Given the description of an element on the screen output the (x, y) to click on. 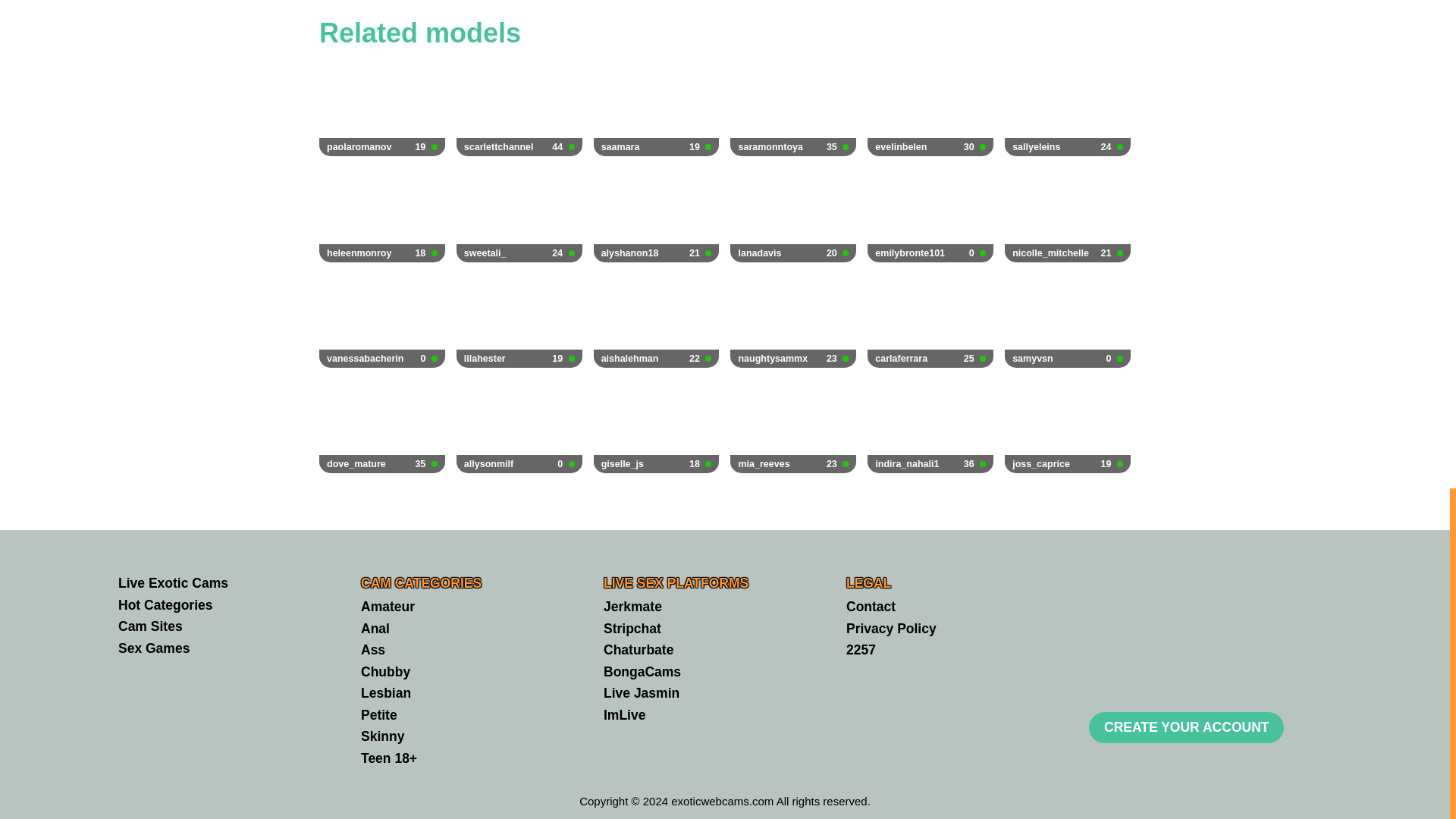
Cam Girl paolaromanov (381, 109)
Cam Girl saramonntoya (793, 109)
Cam Girl scarlettchannel (793, 109)
Cam Girl sallyeleins (519, 109)
Cam Girl aishalehman (793, 214)
Cam Girl saamara (519, 320)
Cam Girl vanessabacherin (381, 109)
Cam Girl heleenmonroy (519, 426)
Cam Girl emilybronte101 (1067, 109)
